Given the description of an element on the screen output the (x, y) to click on. 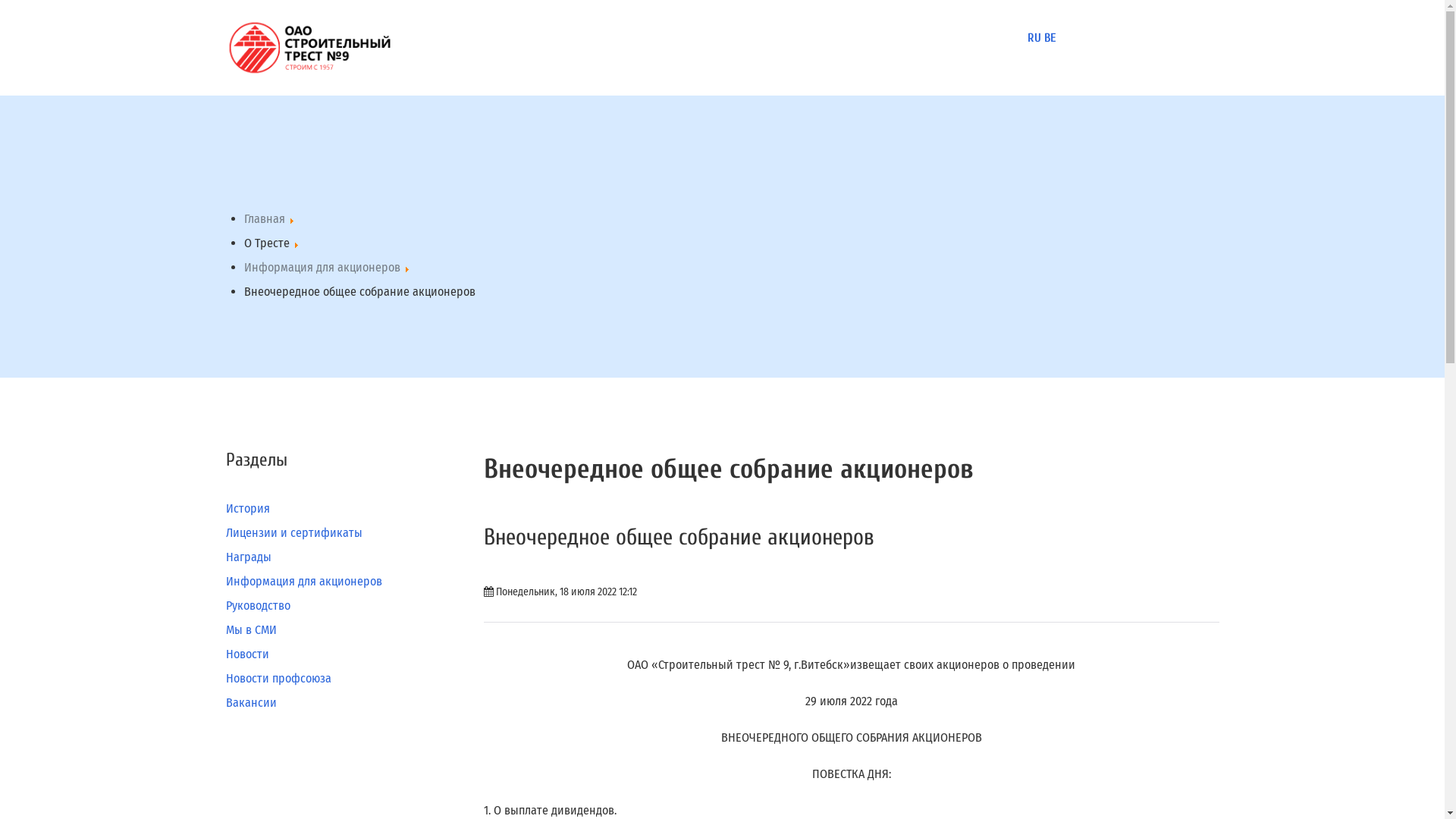
BE Element type: text (1049, 37)
RU Element type: text (1033, 37)
